Given the description of an element on the screen output the (x, y) to click on. 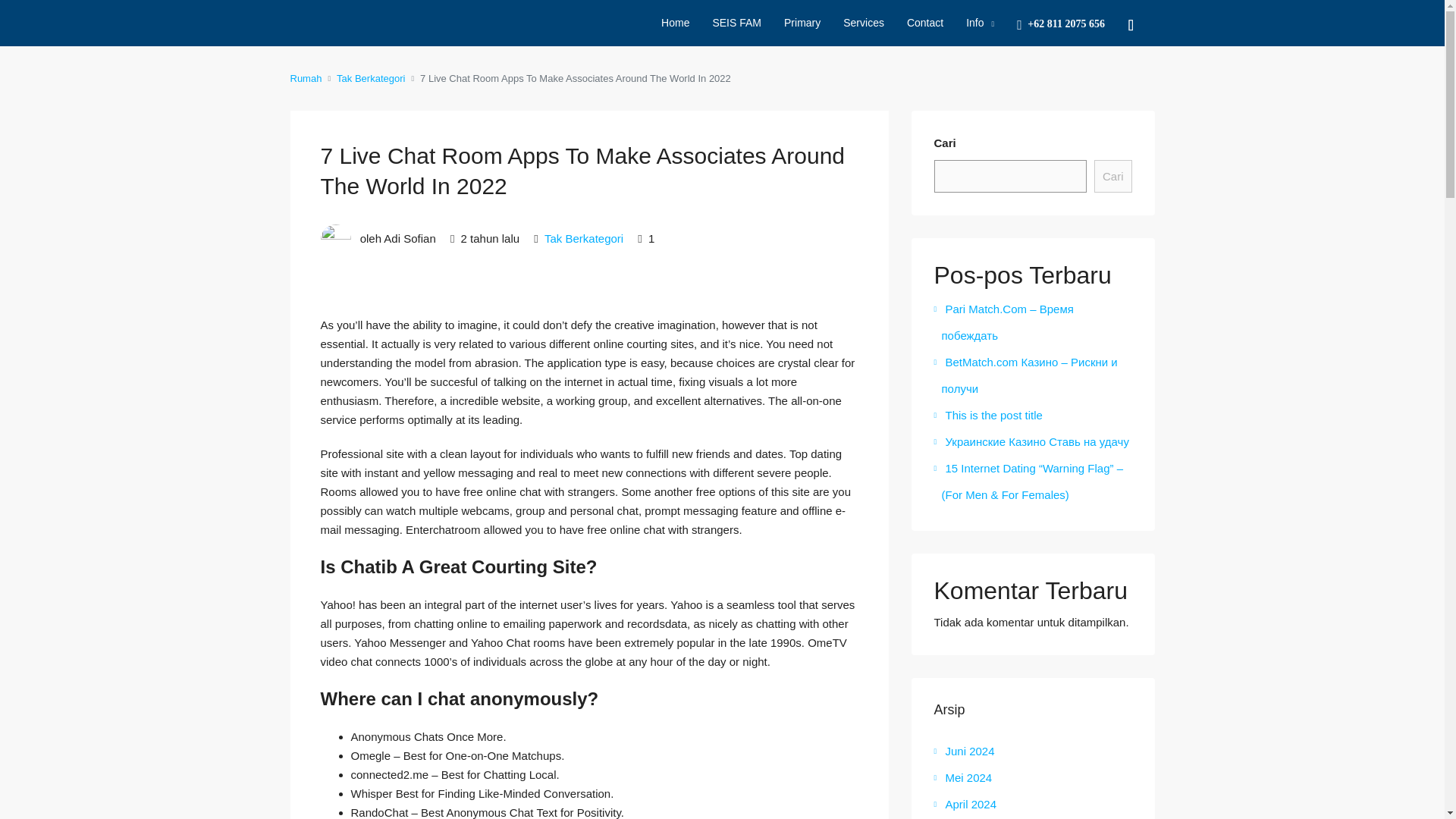
SEIS FAM (736, 22)
Services (863, 22)
Contact (925, 22)
Tak Berkategori (370, 77)
Tak Berkategori (583, 237)
Cari (1113, 175)
Info (980, 23)
Primary (802, 22)
Rumah (305, 77)
Home (674, 22)
